Given the description of an element on the screen output the (x, y) to click on. 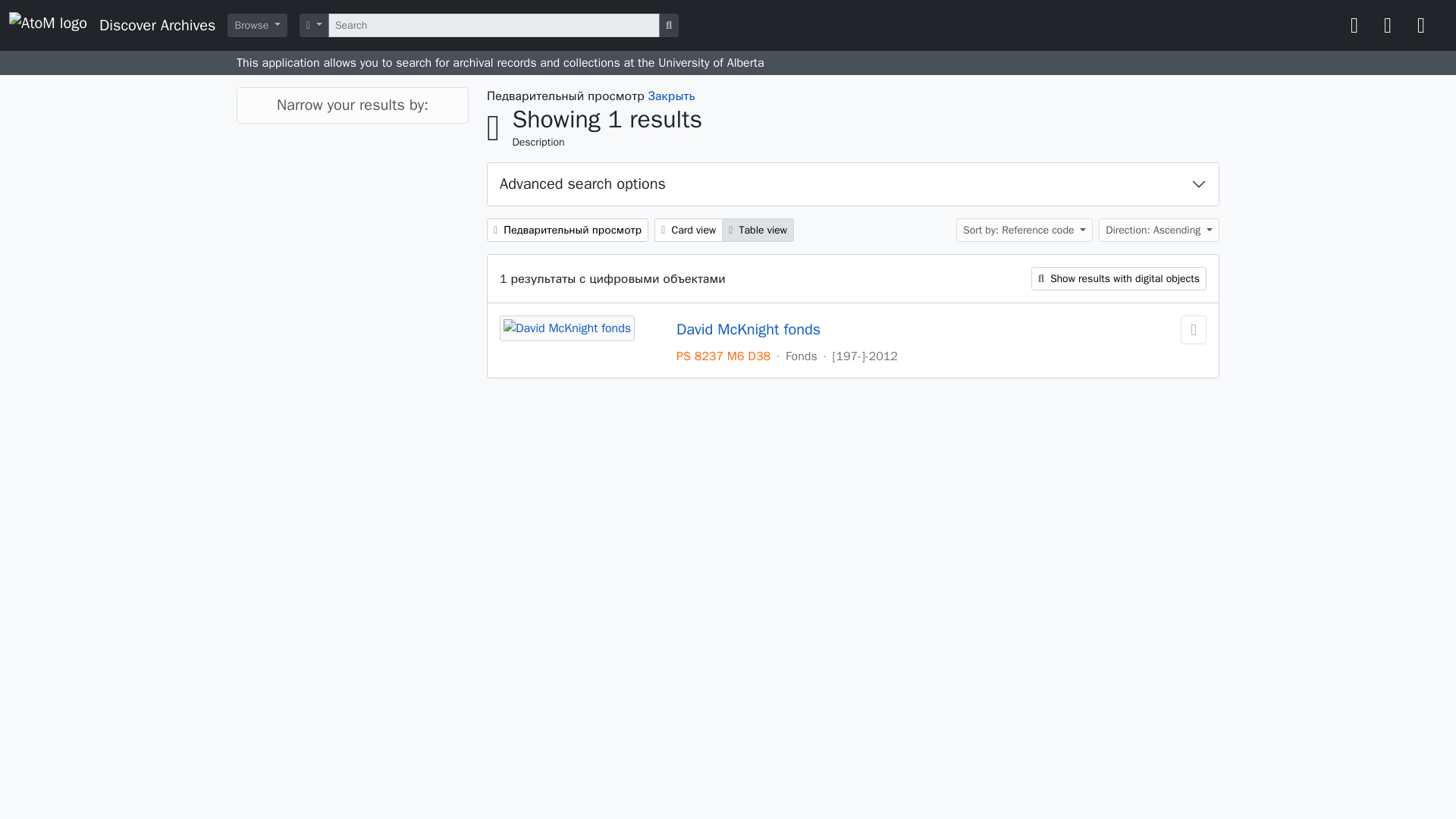
Clipboard (1354, 25)
Quick links (1421, 25)
Discover Archives (117, 25)
Search options (314, 24)
Skip to main content (54, 11)
Clipboard (1354, 25)
Browse (256, 24)
Narrow your results by: (351, 104)
Home (117, 25)
